Given the description of an element on the screen output the (x, y) to click on. 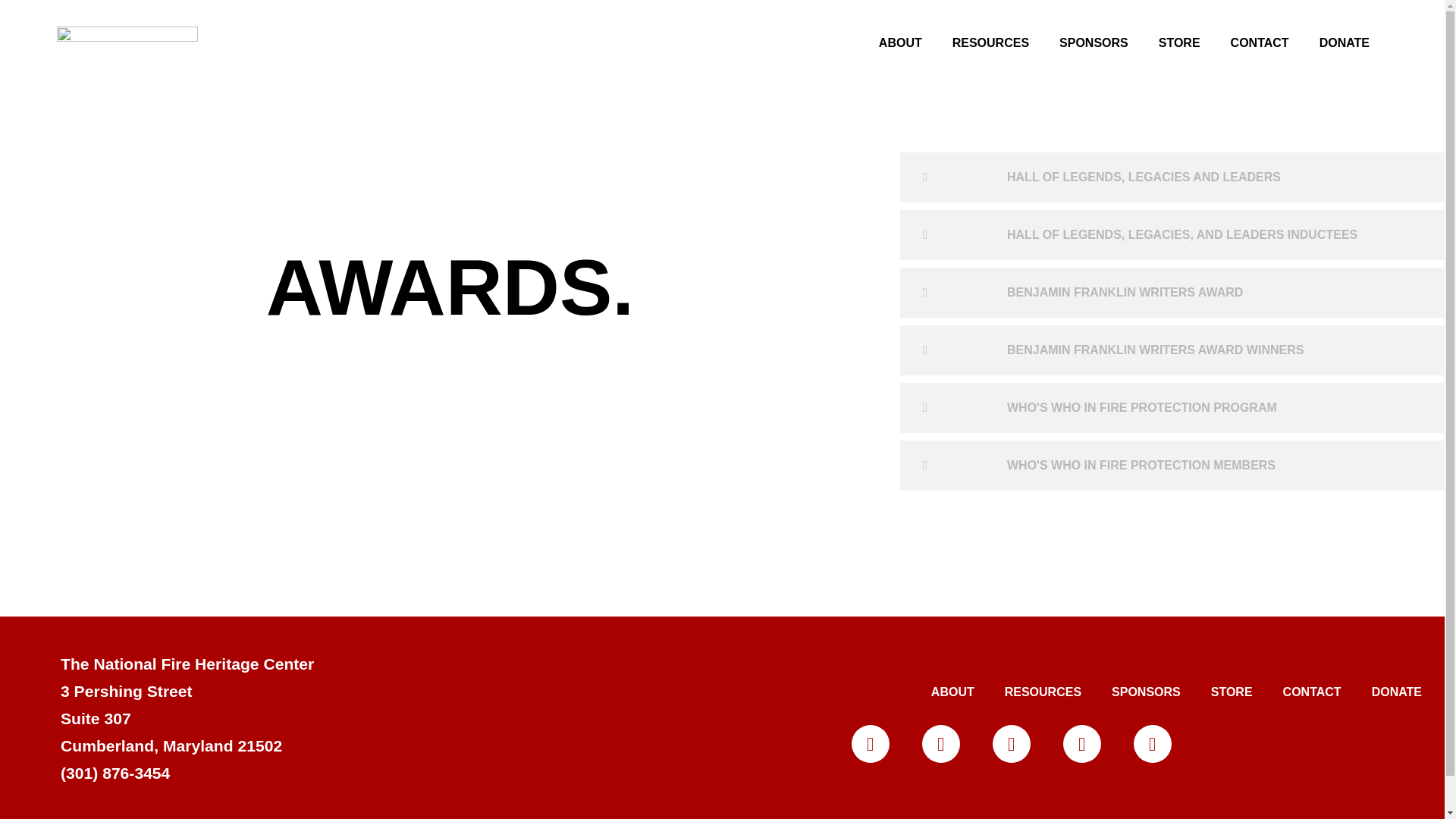
STORE (1178, 42)
SPONSORS (1092, 42)
CONTACT (1259, 42)
RESOURCES (990, 42)
ABOUT (900, 42)
DONATE (1344, 42)
